Given the description of an element on the screen output the (x, y) to click on. 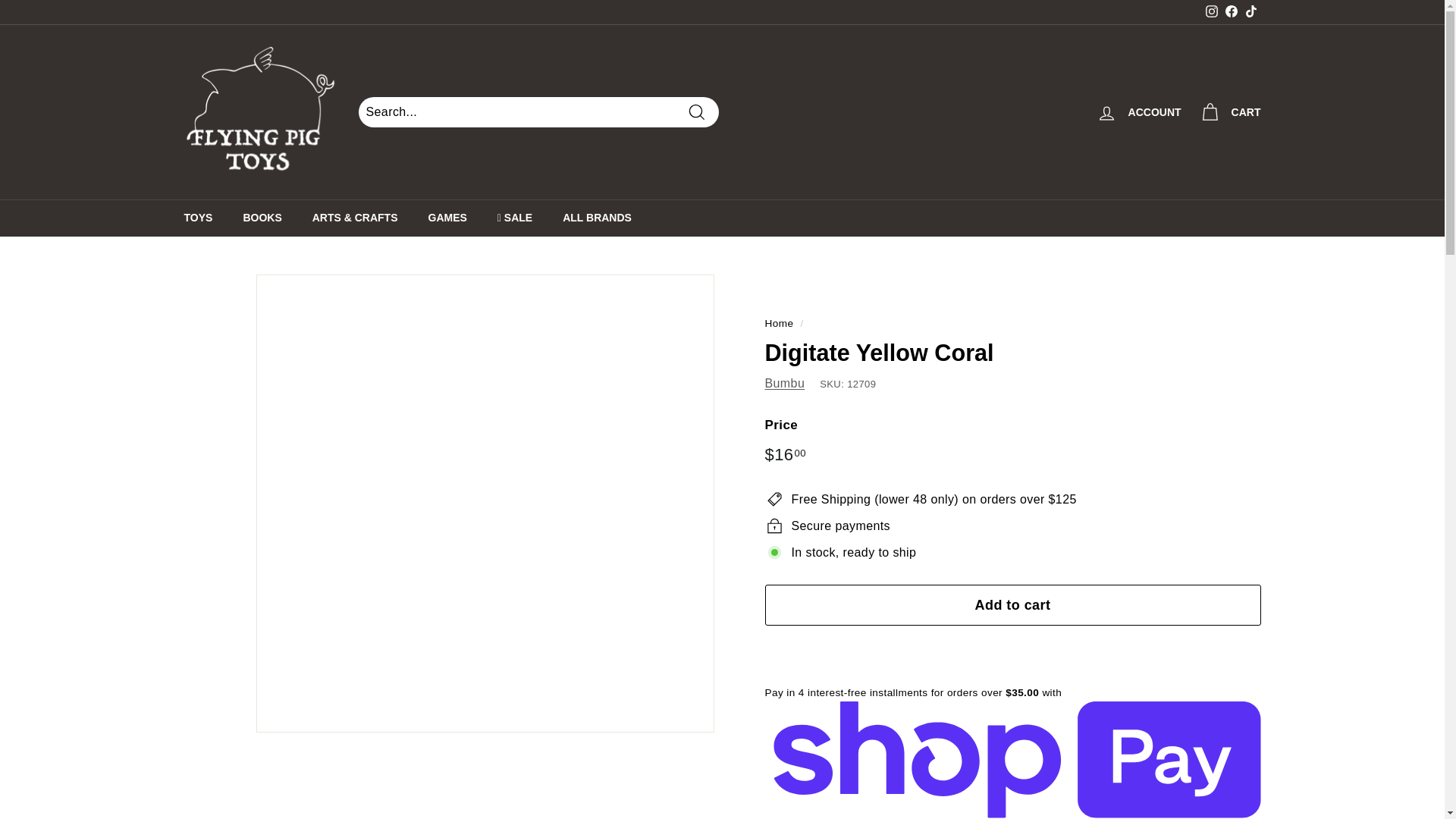
Back to the frontpage (778, 323)
TOYS (197, 217)
ACCOUNT (1139, 111)
